Given the description of an element on the screen output the (x, y) to click on. 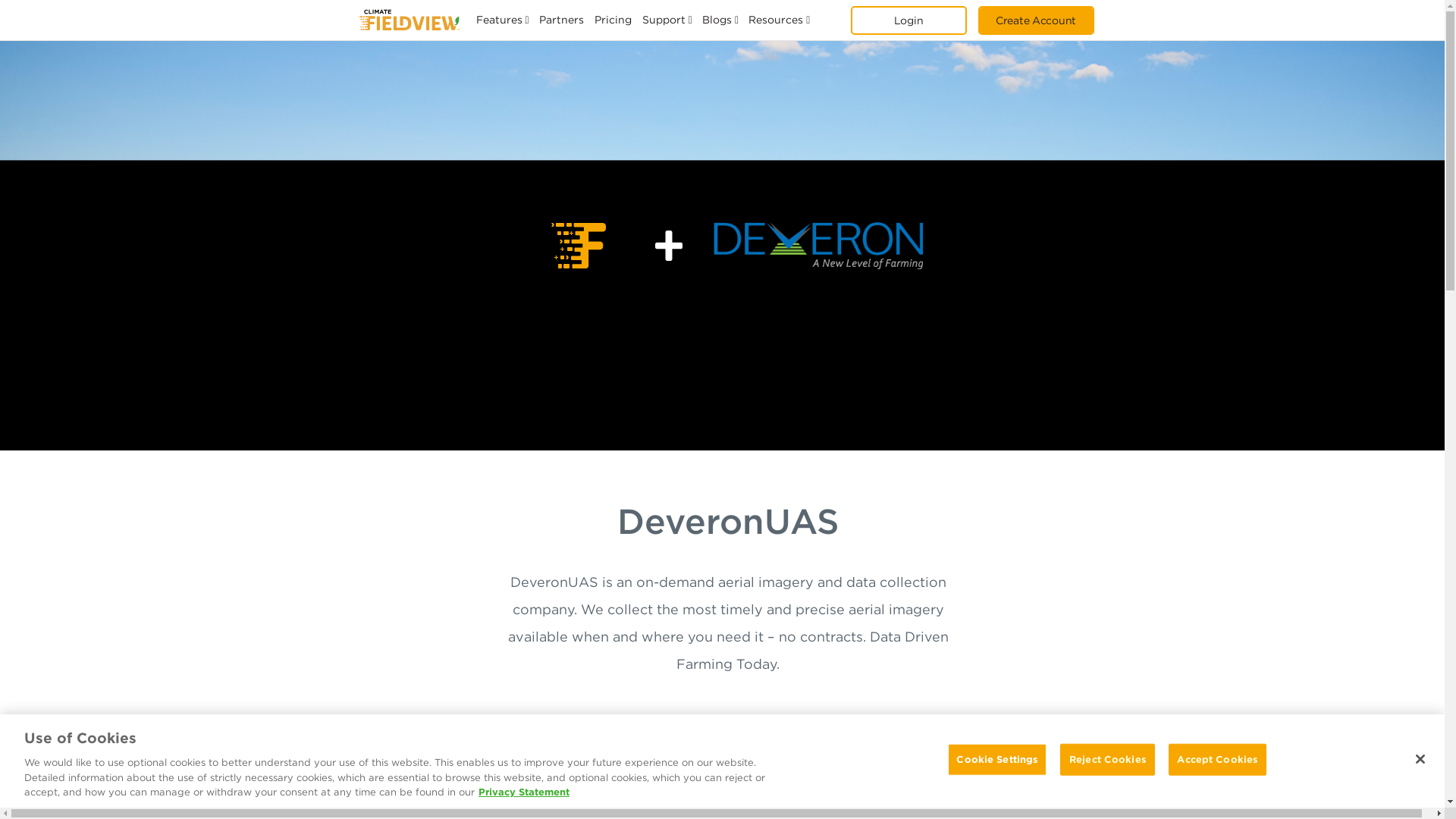
Climate Fieldview Logo (408, 20)
Resources (775, 19)
Climate Fieldview (408, 20)
Pricing (612, 19)
Features (499, 19)
Blogs (716, 19)
Support (663, 19)
Create Account (1036, 20)
Login (908, 20)
Login (908, 20)
Partners (560, 19)
Climate Fieldview Logo (408, 20)
Create Account (1036, 20)
Visit Site (732, 732)
